Given the description of an element on the screen output the (x, y) to click on. 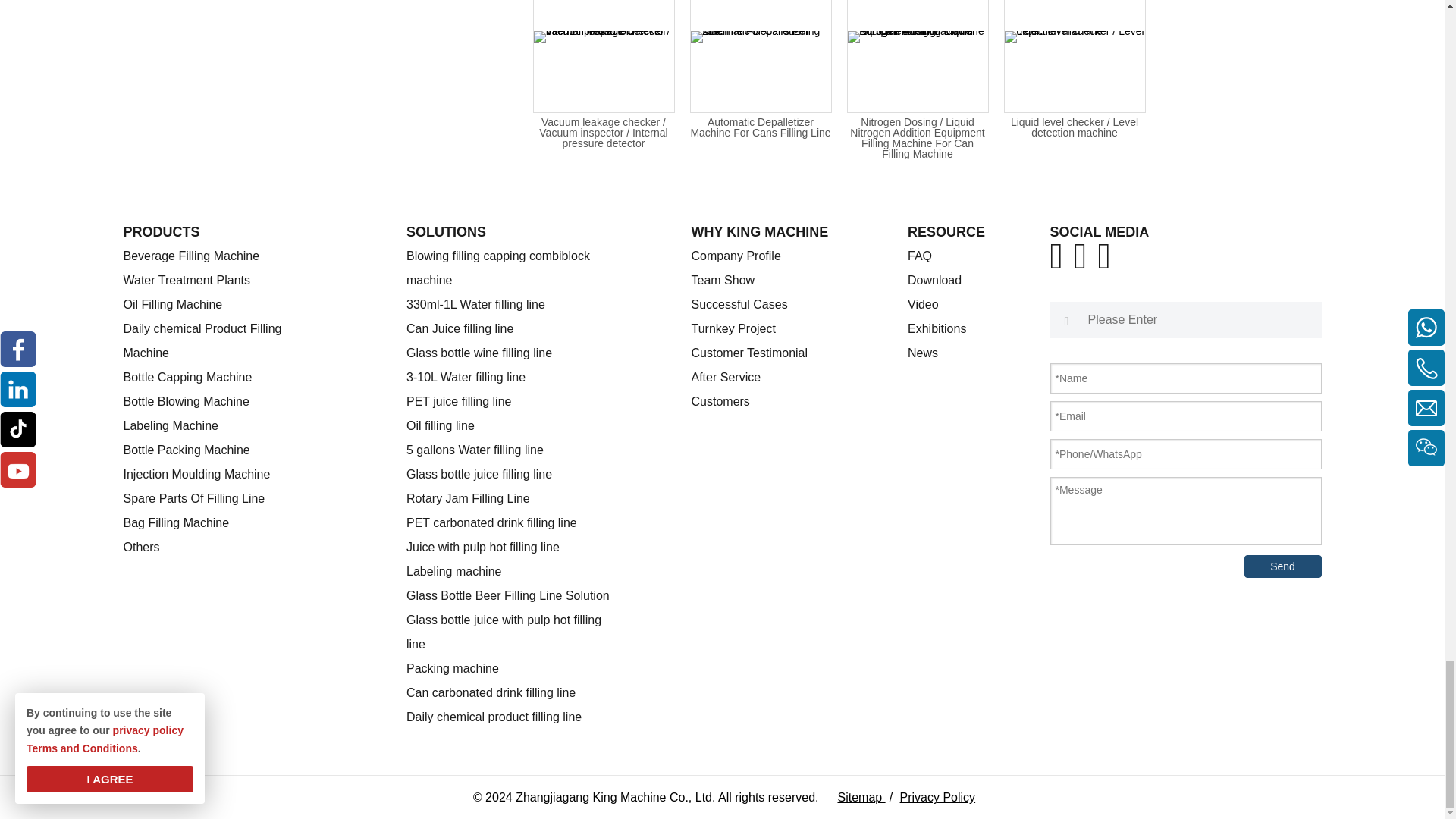
Send (1281, 566)
